Given the description of an element on the screen output the (x, y) to click on. 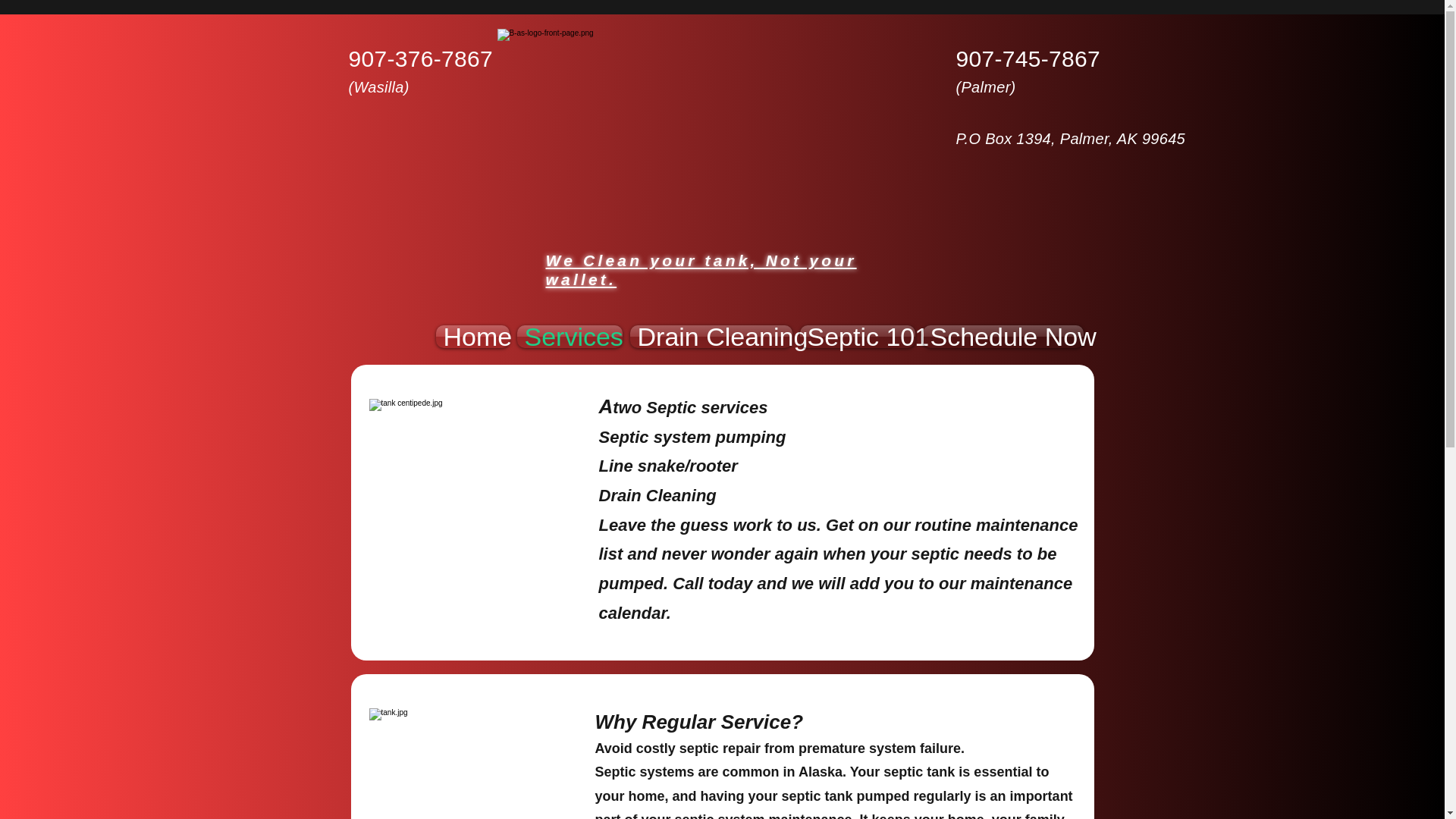
Services (569, 336)
Drain Cleaning (711, 336)
Home (472, 336)
logo-960.png (722, 126)
Schedule Now (1000, 336)
Septic 101 (857, 336)
